Given the description of an element on the screen output the (x, y) to click on. 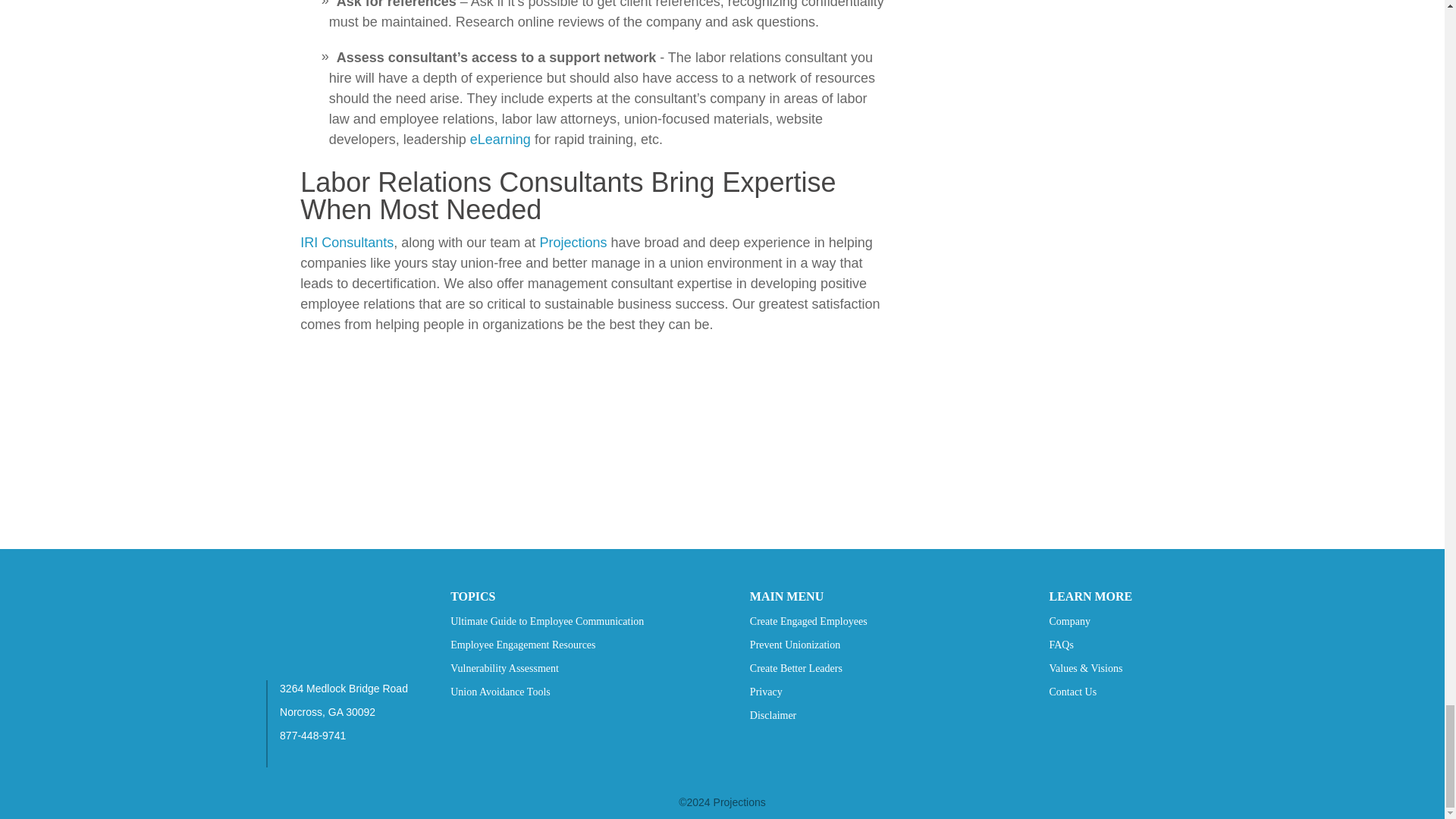
Why Psychological Safety Matters (721, 525)
